Given the description of an element on the screen output the (x, y) to click on. 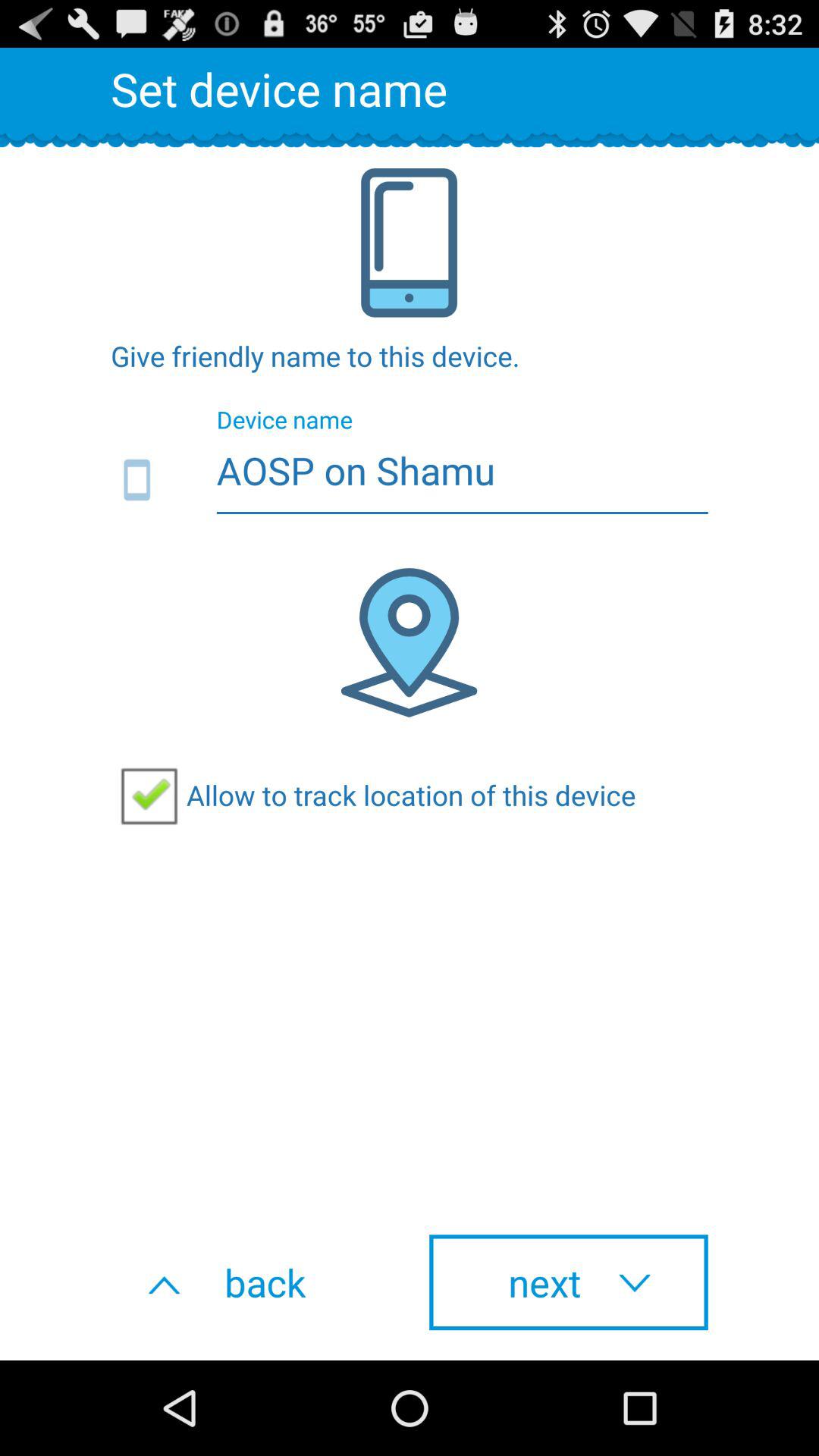
open the checkbox below the allow to track item (568, 1282)
